Given the description of an element on the screen output the (x, y) to click on. 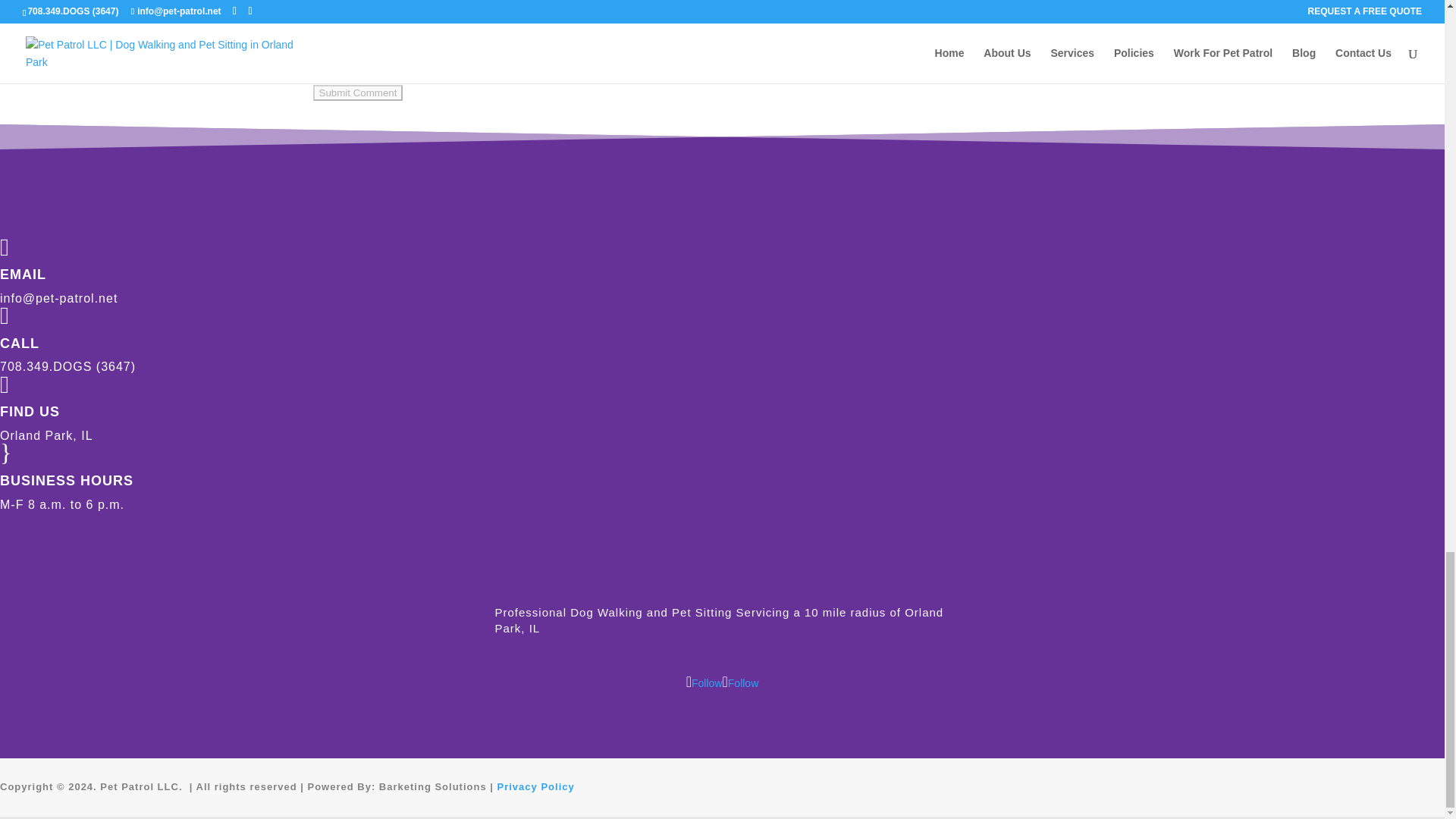
Follow on Instagram (740, 683)
Submit Comment (358, 92)
Follow on Facebook (703, 683)
